Given the description of an element on the screen output the (x, y) to click on. 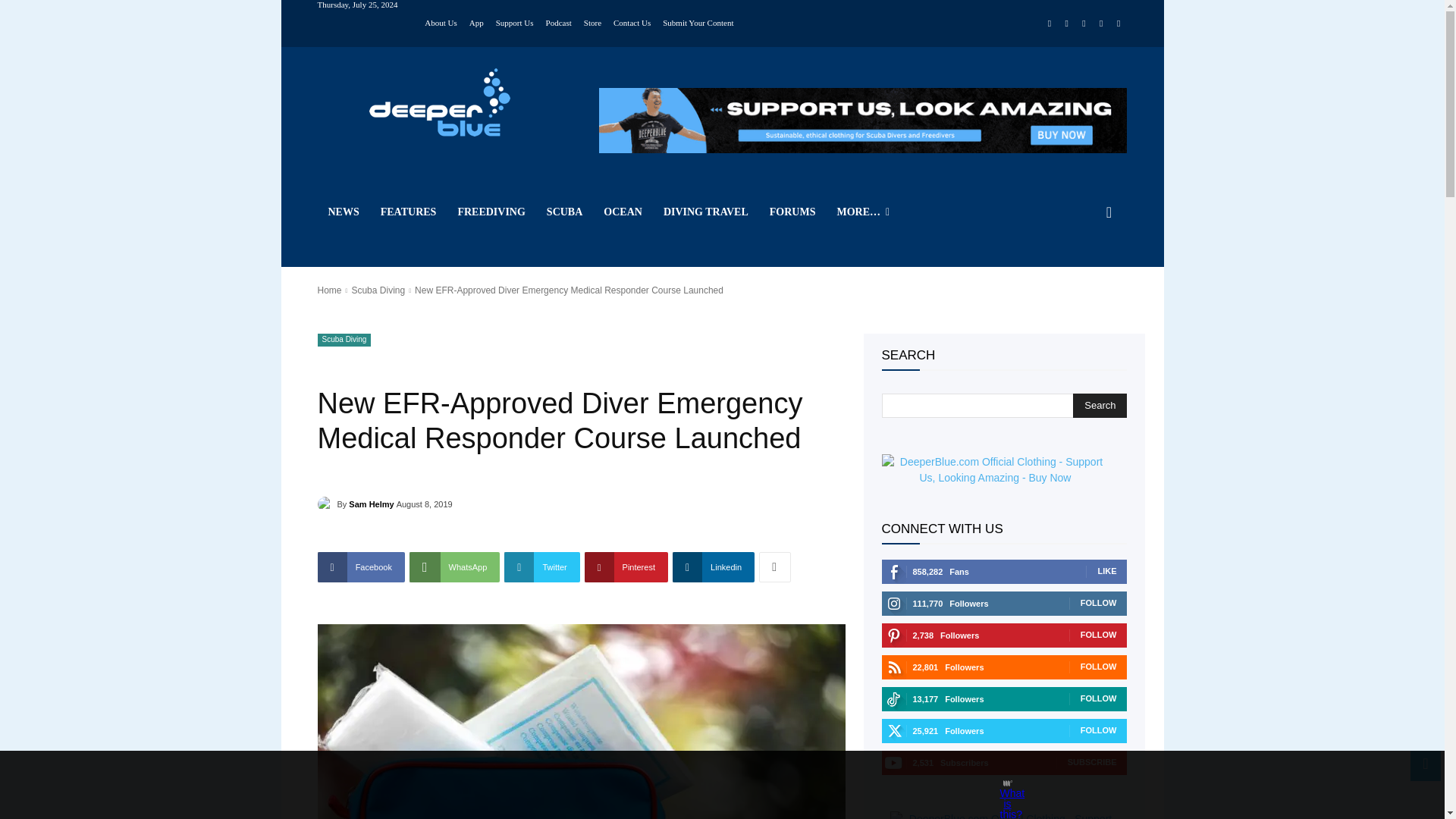
Contact Us (631, 22)
Instagram (1066, 23)
About Us (441, 22)
App (475, 22)
Store (592, 22)
RSS (1084, 23)
Facebook (1049, 23)
Support Us (515, 22)
Podcast (559, 22)
Twitter (1101, 23)
